Given the description of an element on the screen output the (x, y) to click on. 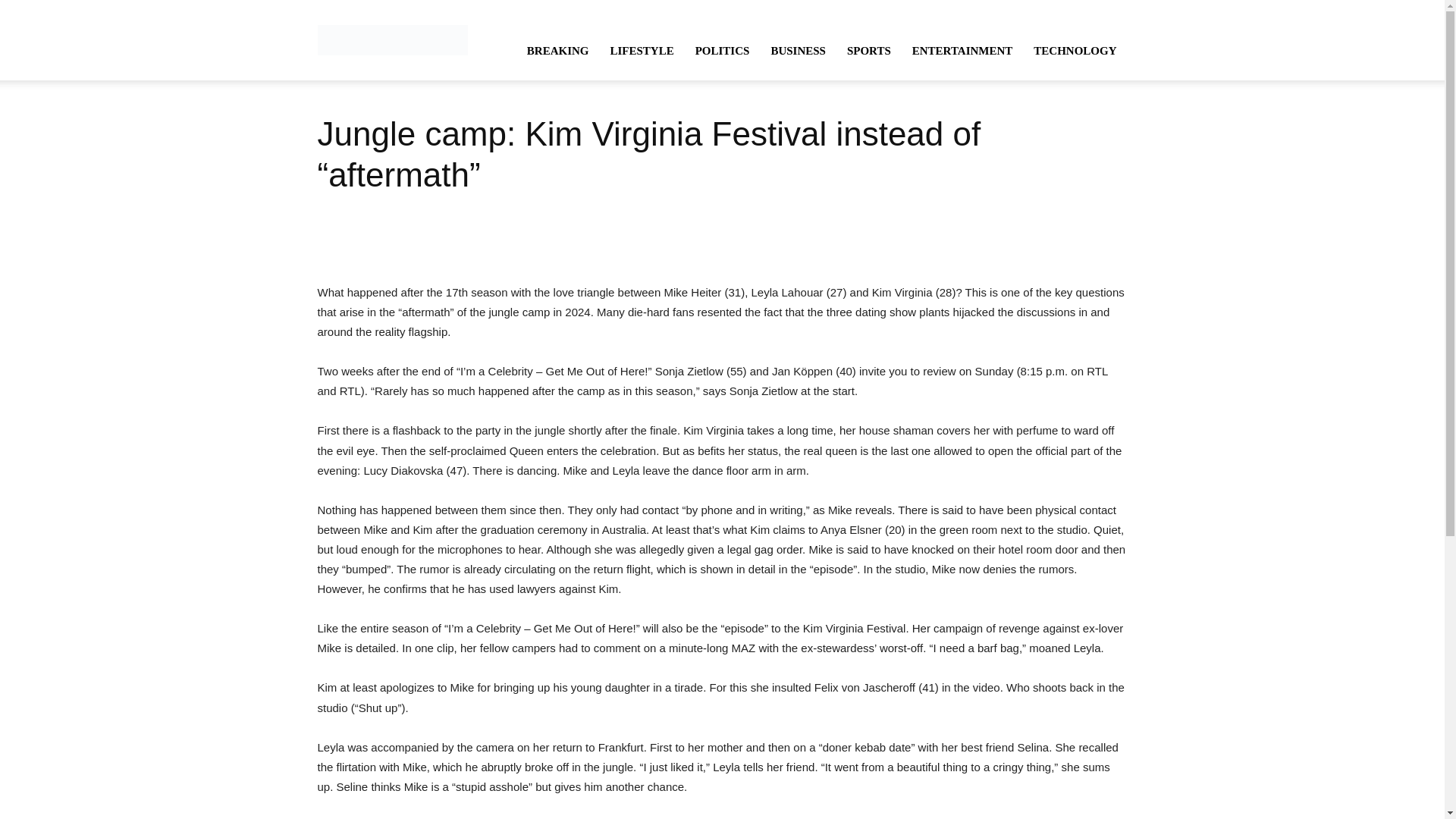
TECHNOLOGY (1074, 50)
ENTERTAINMENT (962, 50)
BREAKING (557, 50)
LIFESTYLE (641, 50)
BUSINESS (797, 50)
POLITICS (722, 50)
SPORTS (868, 50)
Indo Newyork (392, 39)
